Given the description of an element on the screen output the (x, y) to click on. 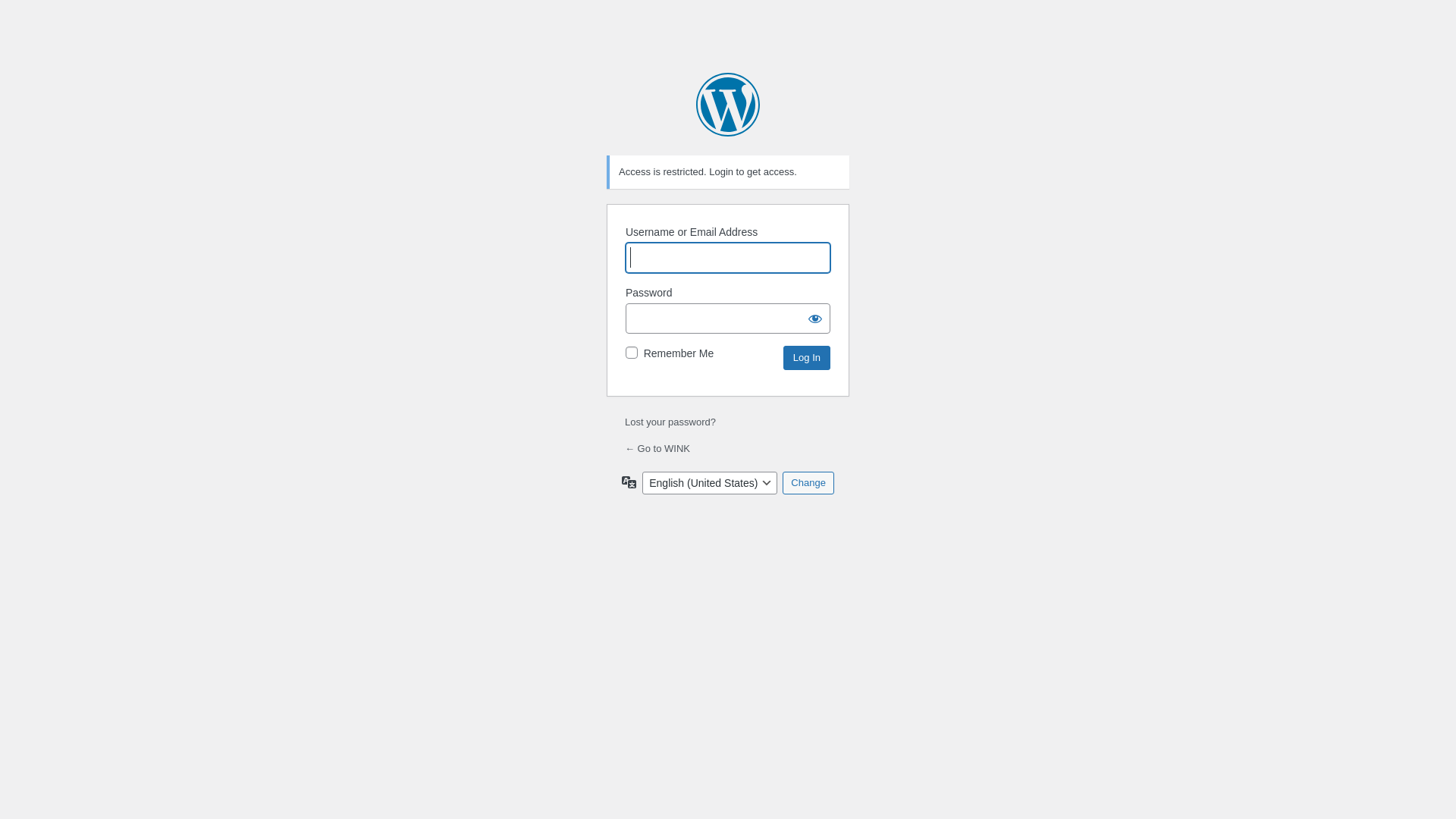
Powered by WordPress Element type: text (727, 104)
Change Element type: text (808, 482)
Lost your password? Element type: text (669, 420)
Log In Element type: text (806, 357)
